Given the description of an element on the screen output the (x, y) to click on. 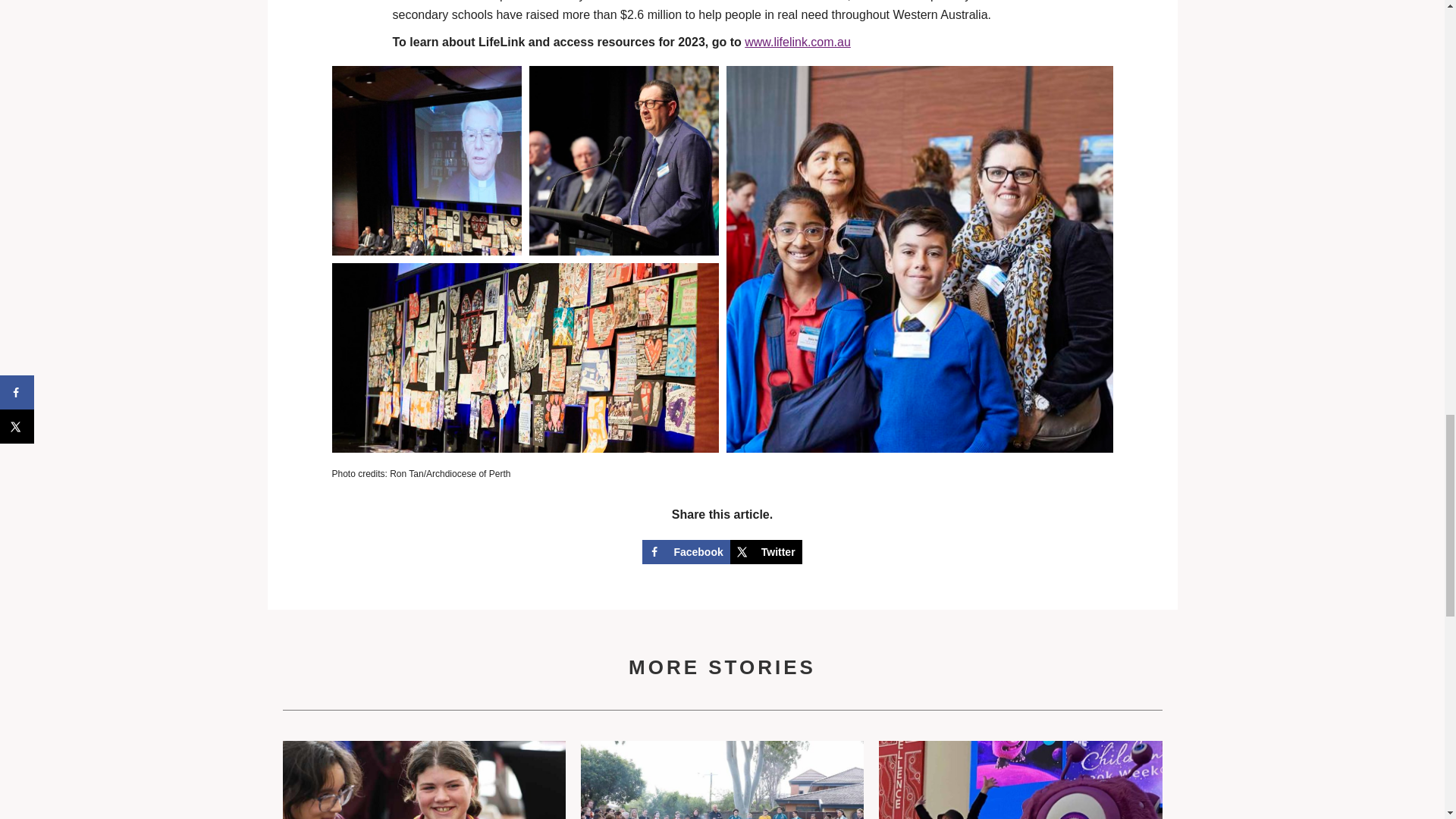
Share on X (766, 551)
Cover-Photo-1200 (423, 780)
www.lifelink.com.au (797, 42)
Facebook (685, 551)
Twitter (766, 551)
Share on Facebook (685, 551)
